Given the description of an element on the screen output the (x, y) to click on. 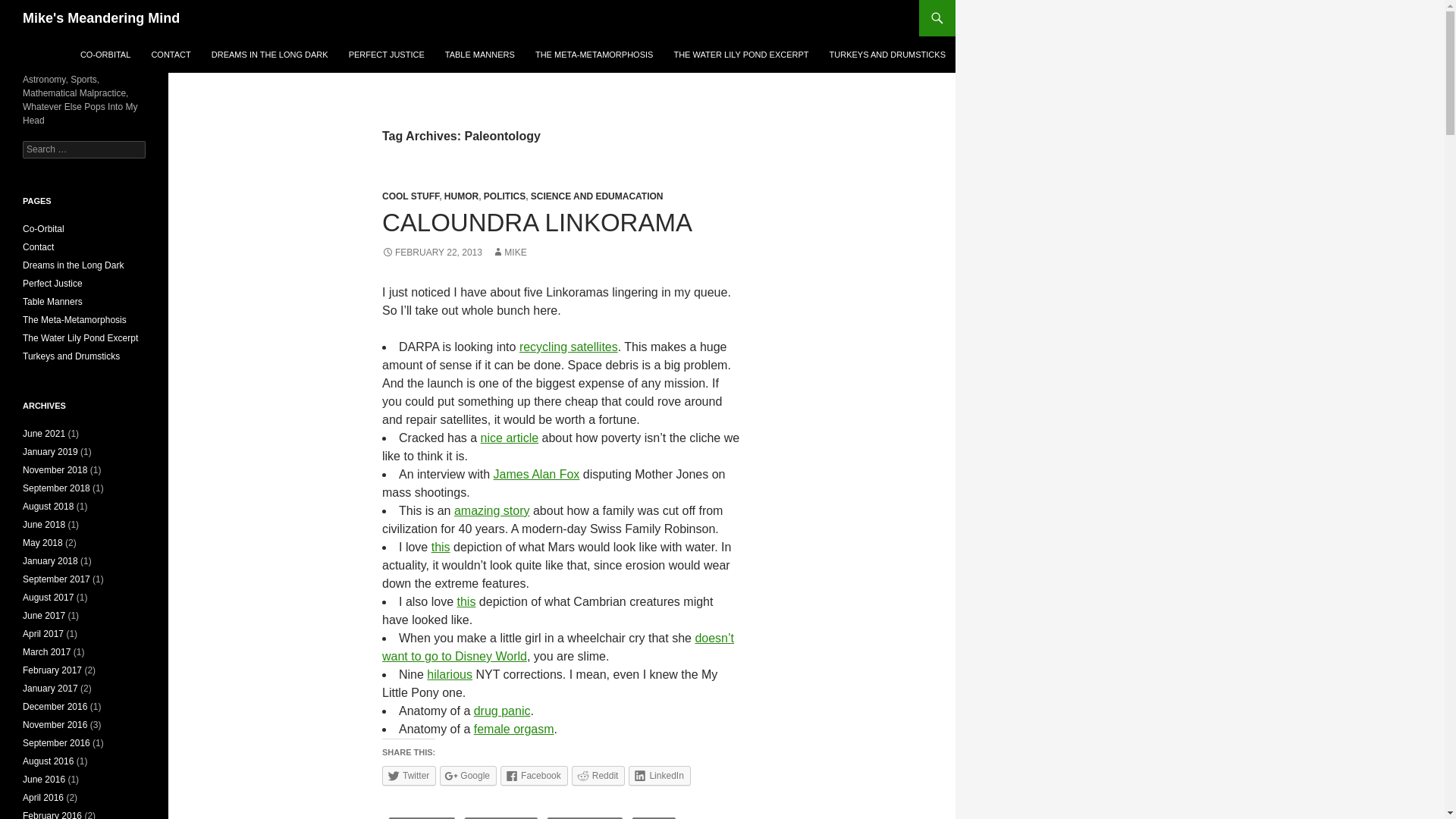
LinkedIn (659, 775)
HUMOR (461, 195)
GUN CONTROL (501, 818)
Click to share on Facebook (533, 775)
Click to share on LinkedIn (659, 775)
CALOUNDRA LINKORAMA (537, 222)
Facebook (533, 775)
Click to share on Reddit (599, 775)
FEBRUARY 22, 2013 (431, 252)
TABLE MANNERS (479, 54)
ASTRONOMY (422, 818)
Google (467, 775)
hilarious (448, 674)
SCIENCE AND EDUMACATION (597, 195)
